Given the description of an element on the screen output the (x, y) to click on. 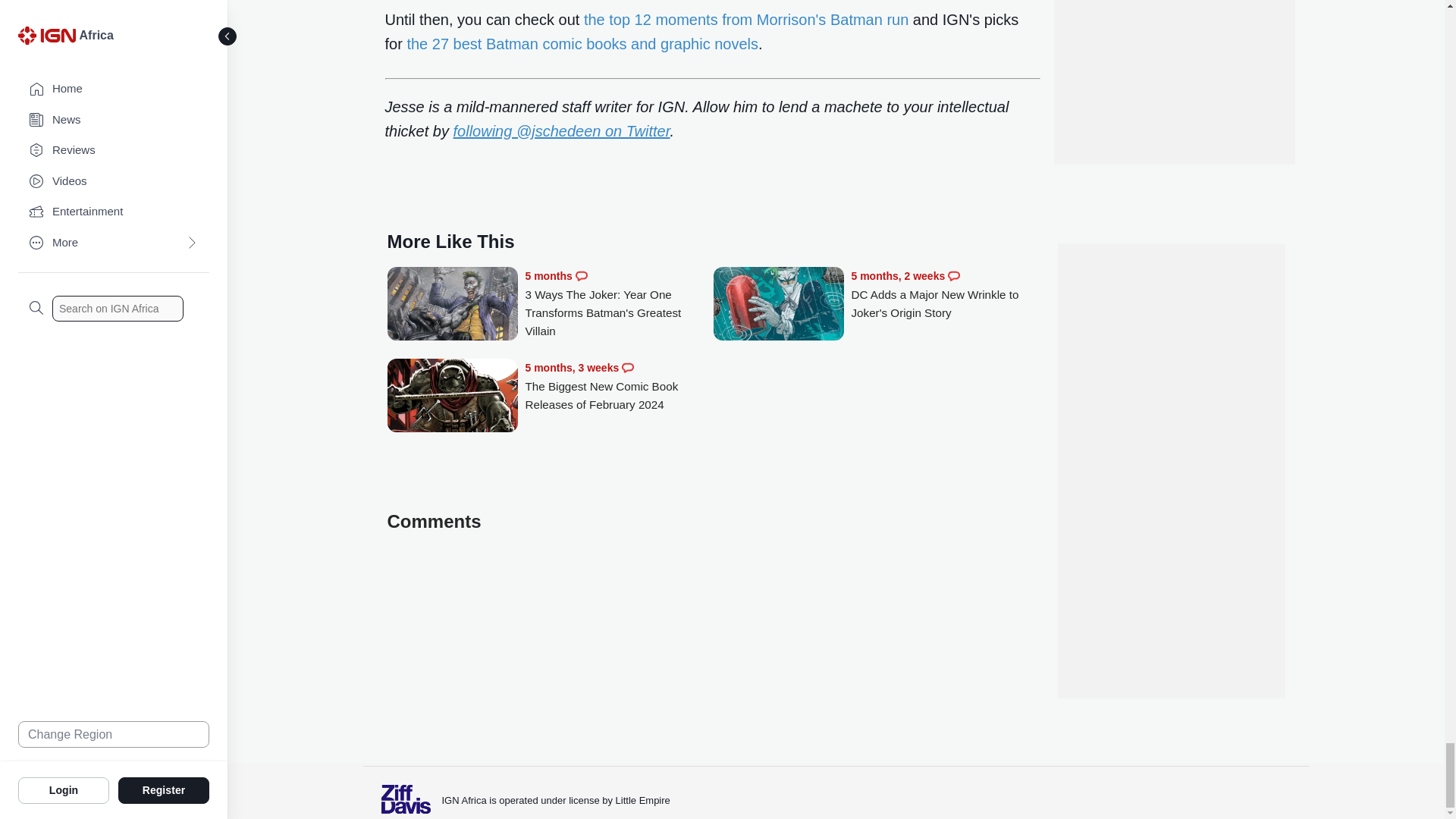
Comments (953, 275)
The Biggest New Comic Book Releases of February 2024 (618, 386)
The Biggest New Comic Book Releases of February 2024 (451, 396)
DC Adds a Major New Wrinkle to Joker's Origin Story (778, 304)
DC Adds a Major New Wrinkle to Joker's Origin Story (944, 294)
Comments (627, 367)
Comments (581, 275)
